Given the description of an element on the screen output the (x, y) to click on. 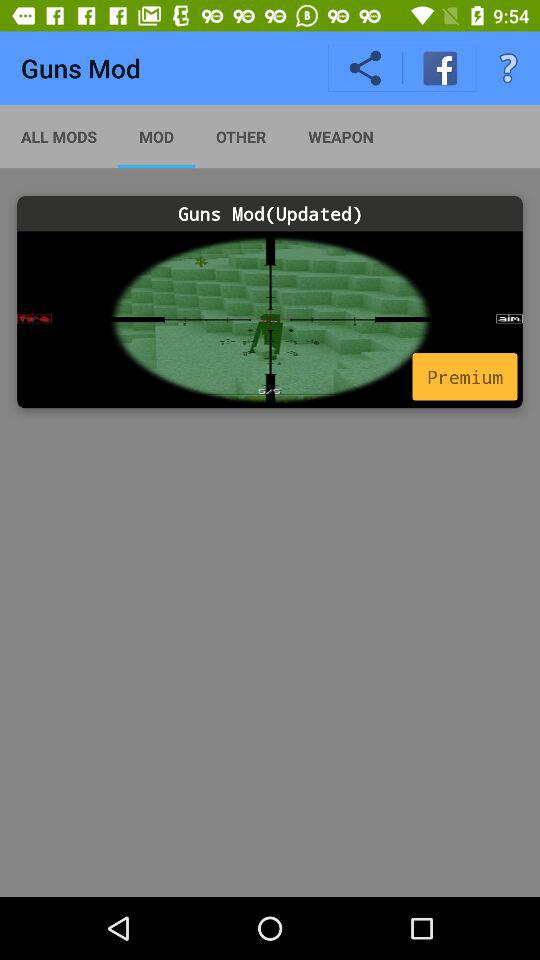
choose the all mods app (59, 136)
